Given the description of an element on the screen output the (x, y) to click on. 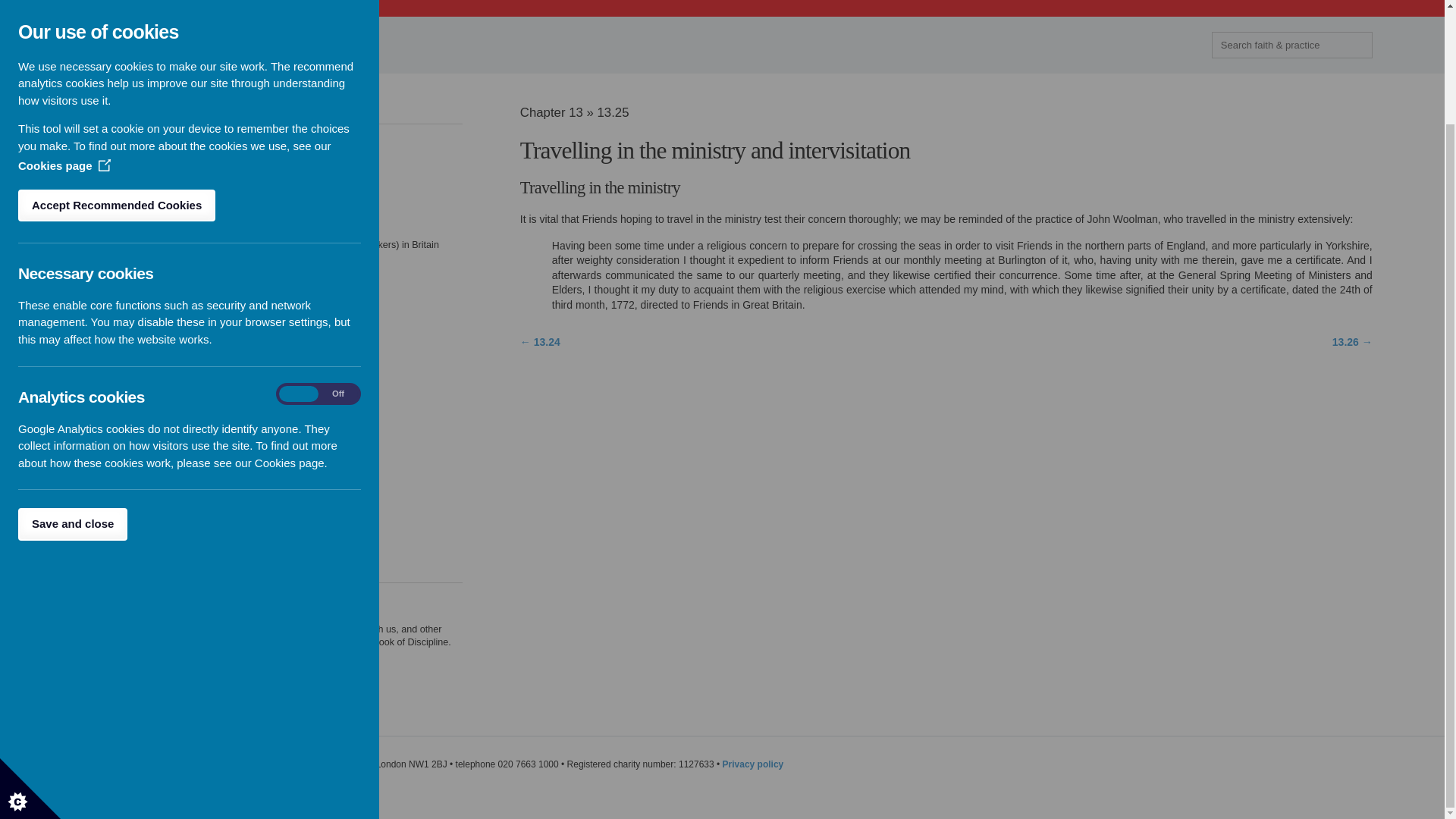
13.25 (188, 44)
Introduction (110, 137)
Meeting for Sufferings (132, 231)
Belonging to a Quaker meeting (151, 271)
Close relationships (126, 430)
Caring for one another (133, 297)
Varieties of religious service (145, 311)
Advices and queries (128, 150)
Beyond Britain Yearly Meeting (149, 257)
Unity of creation (120, 471)
